Given the description of an element on the screen output the (x, y) to click on. 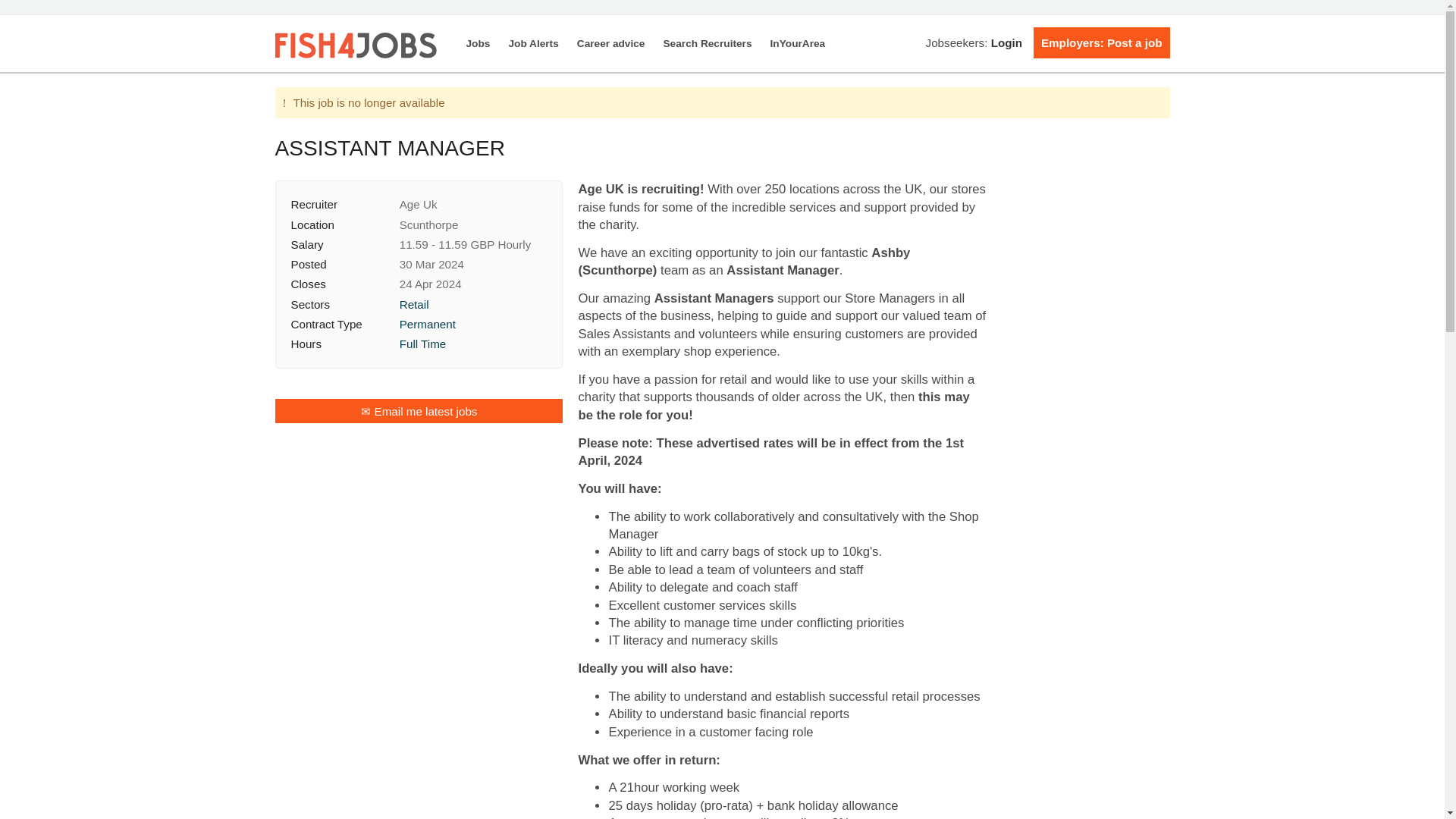
Login (1006, 42)
InYourArea (793, 43)
Retail (413, 304)
Employers: Post a job (1101, 42)
Full Time (422, 343)
Email me latest jobs (418, 410)
Job Alerts (533, 43)
Fish4.co.uk (355, 44)
Career advice (610, 43)
Permanent (426, 323)
